Given the description of an element on the screen output the (x, y) to click on. 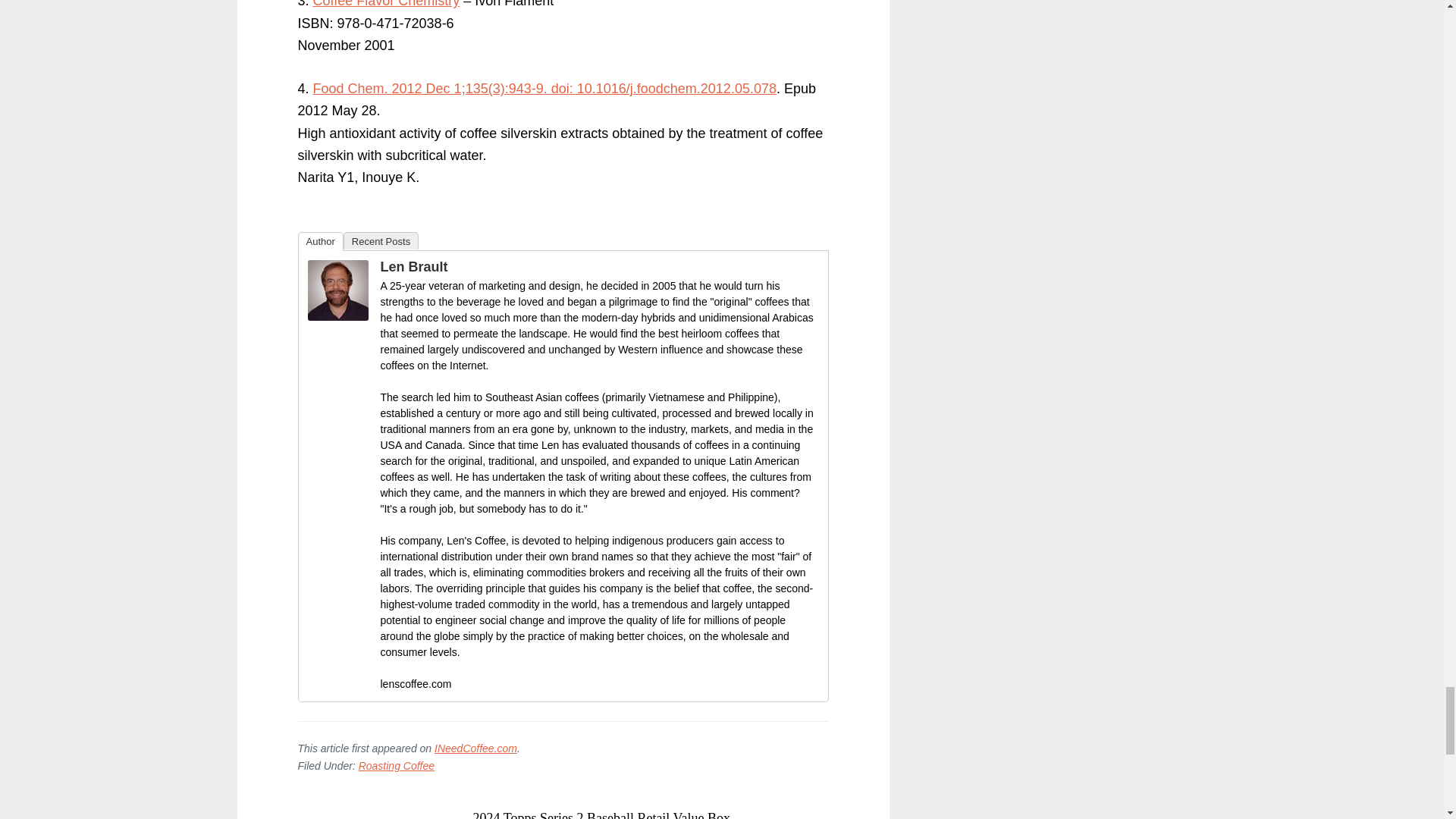
Recent Posts (381, 240)
Roasting Coffee (395, 766)
Len Brault (337, 315)
2024 Topps Series 2 Baseball Retail Value Box:  (601, 814)
2024 Topps Series 2 Baseball Retail Value Box (601, 814)
Coffee Flavor Chemistry (386, 4)
Author (319, 240)
Len Brault (414, 266)
INeedCoffee.com (474, 748)
